Given the description of an element on the screen output the (x, y) to click on. 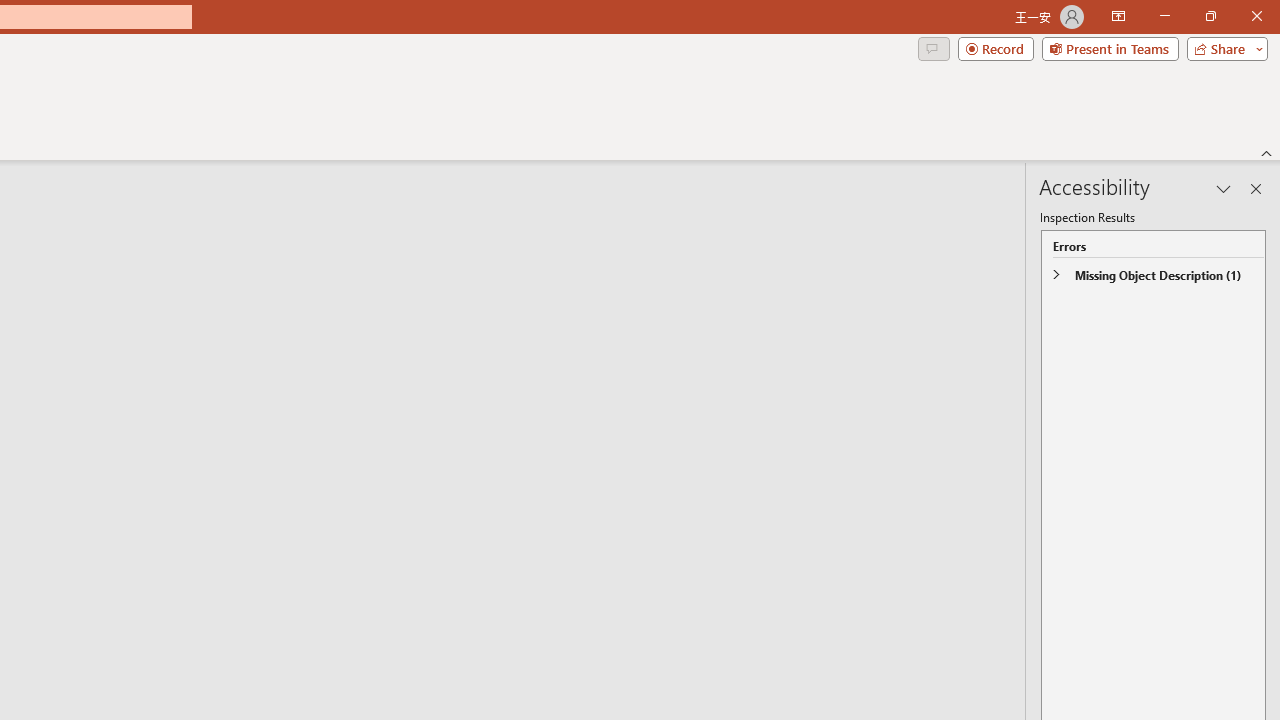
Task Pane Options (1224, 188)
Close pane (1256, 188)
